Given the description of an element on the screen output the (x, y) to click on. 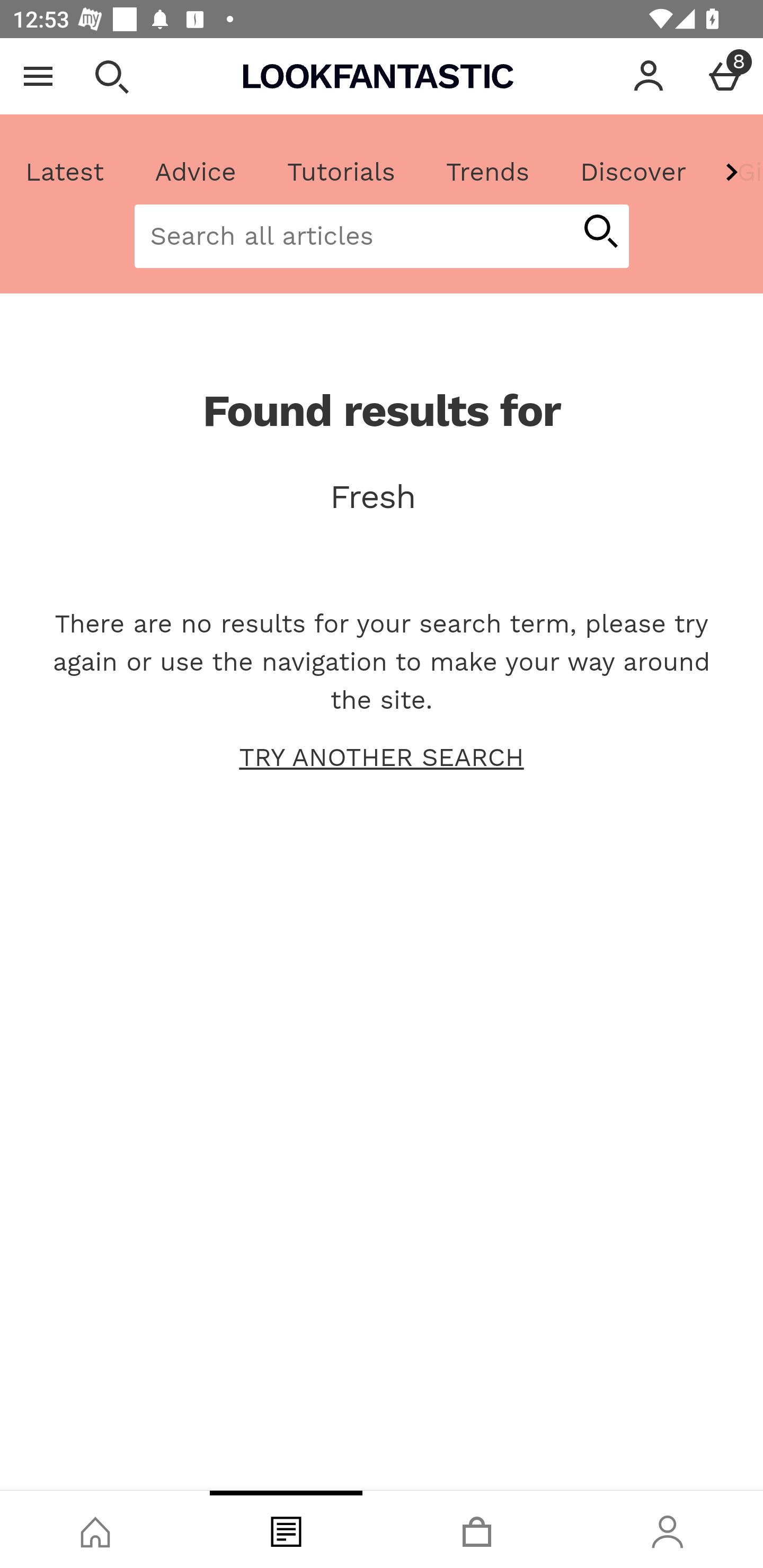
Open Menu (38, 75)
Open search (111, 75)
Account (648, 75)
Basket Menu (724, 75)
Latest (65, 172)
Advice (195, 172)
Tutorials (340, 172)
Trends (486, 172)
Discover (632, 172)
Gift Guide (736, 172)
start article search (599, 232)
Fresh (381, 496)
TRY ANOTHER SEARCH (381, 757)
Shop, tab, 1 of 4 (95, 1529)
Blog, tab, 2 of 4 (285, 1529)
Basket, tab, 3 of 4 (476, 1529)
Account, tab, 4 of 4 (667, 1529)
